Given the description of an element on the screen output the (x, y) to click on. 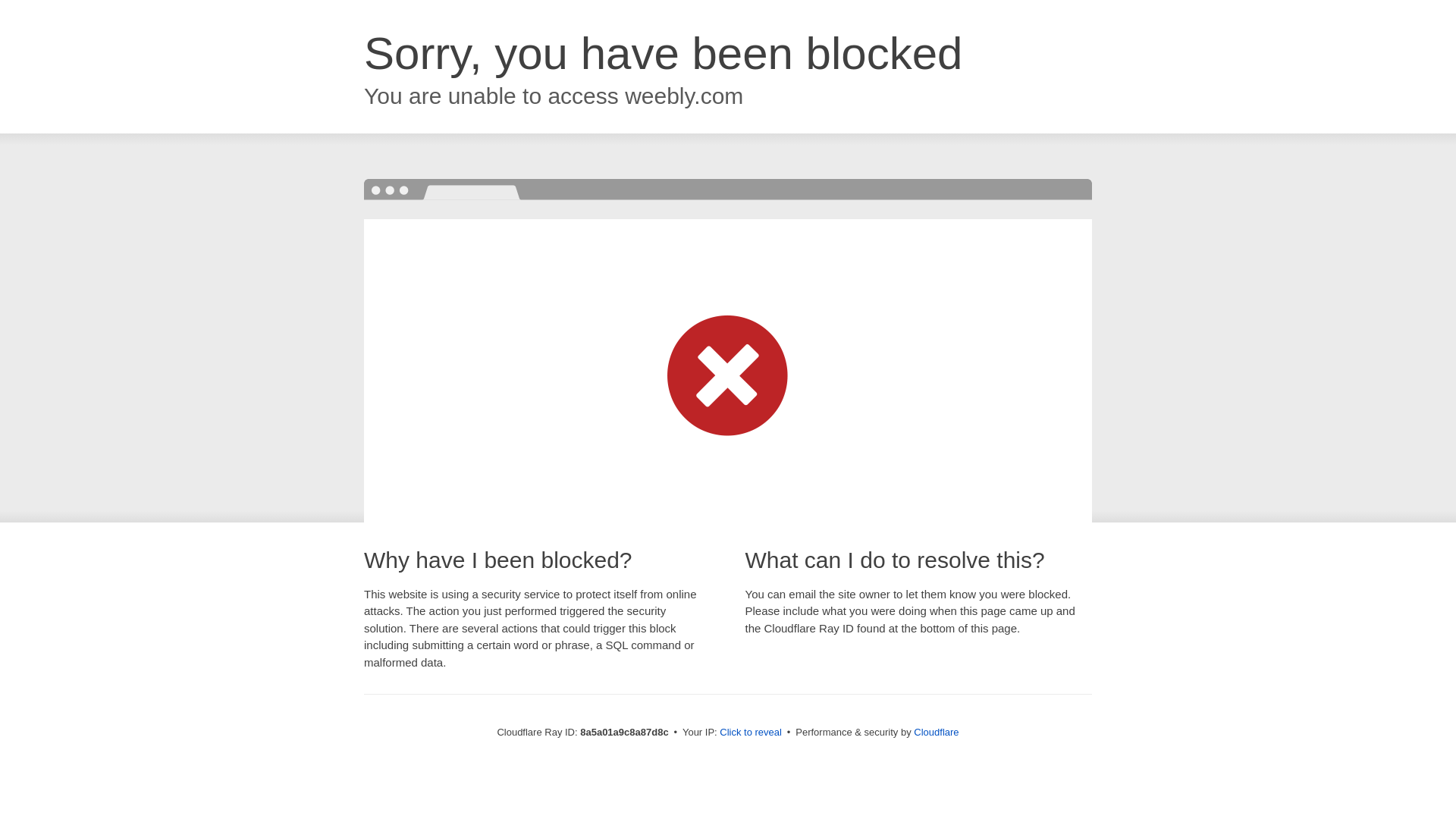
Click to reveal (750, 732)
Cloudflare (936, 731)
